Given the description of an element on the screen output the (x, y) to click on. 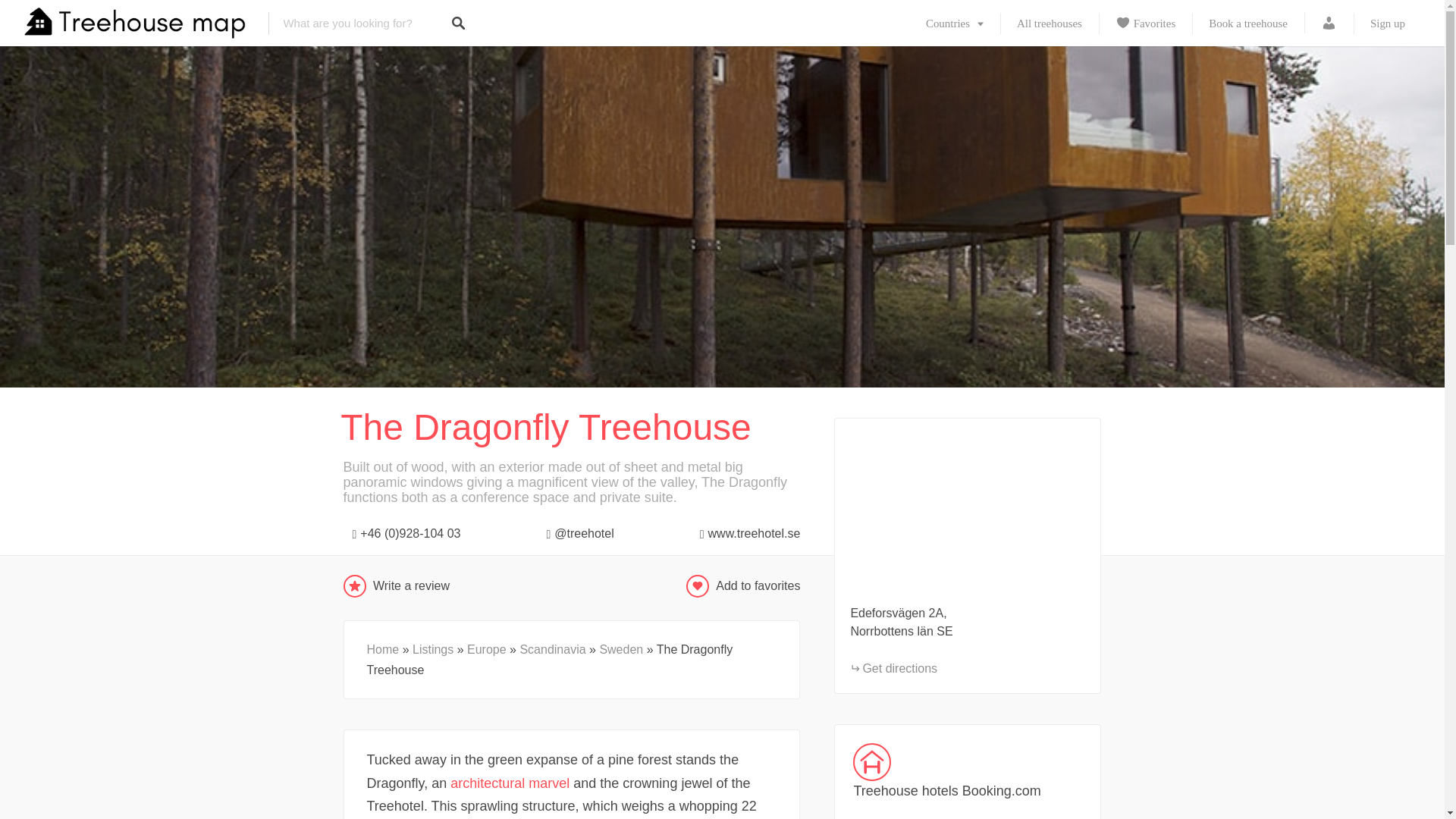
architectural marvel (509, 783)
Countries (954, 22)
